Given the description of an element on the screen output the (x, y) to click on. 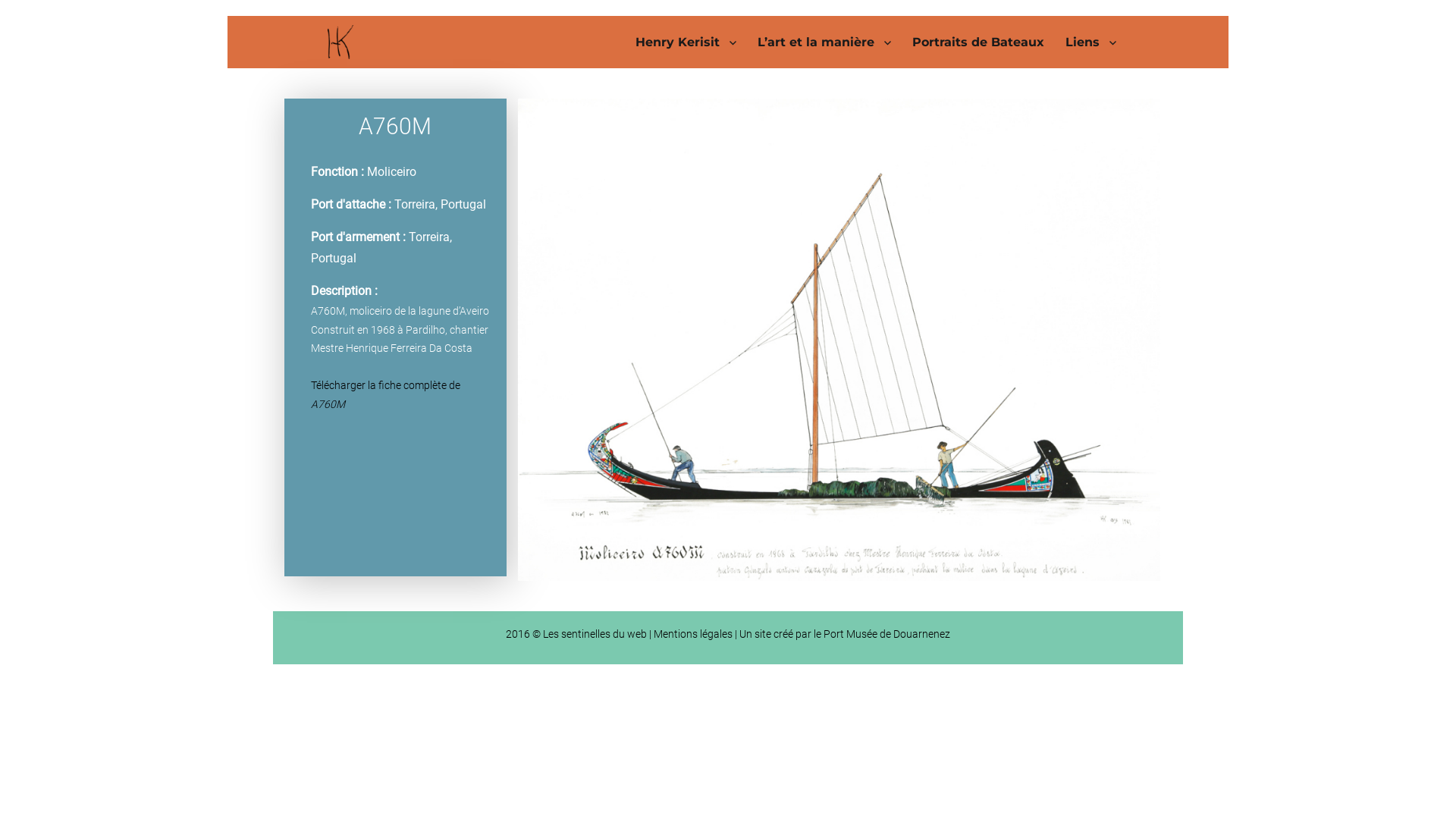
Liens Element type: text (1090, 41)
Henry Kerisit Element type: text (685, 41)
Portraits de Bateaux Element type: text (977, 41)
